Given the description of an element on the screen output the (x, y) to click on. 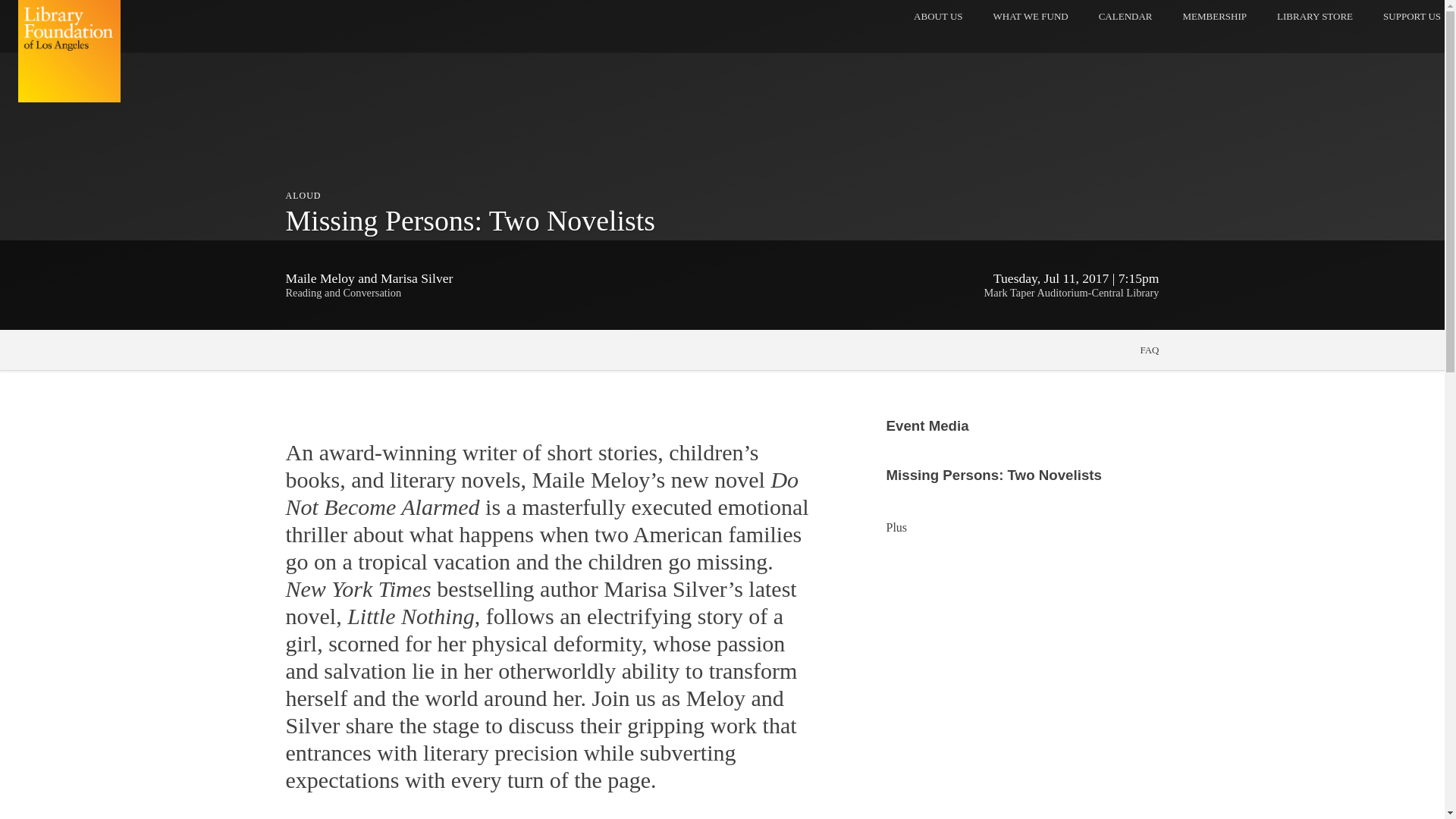
CALENDAR (1125, 16)
MEMBERSHIP (1214, 16)
WHAT WE FUND (68, 51)
ABOUT US (1030, 16)
